Given the description of an element on the screen output the (x, y) to click on. 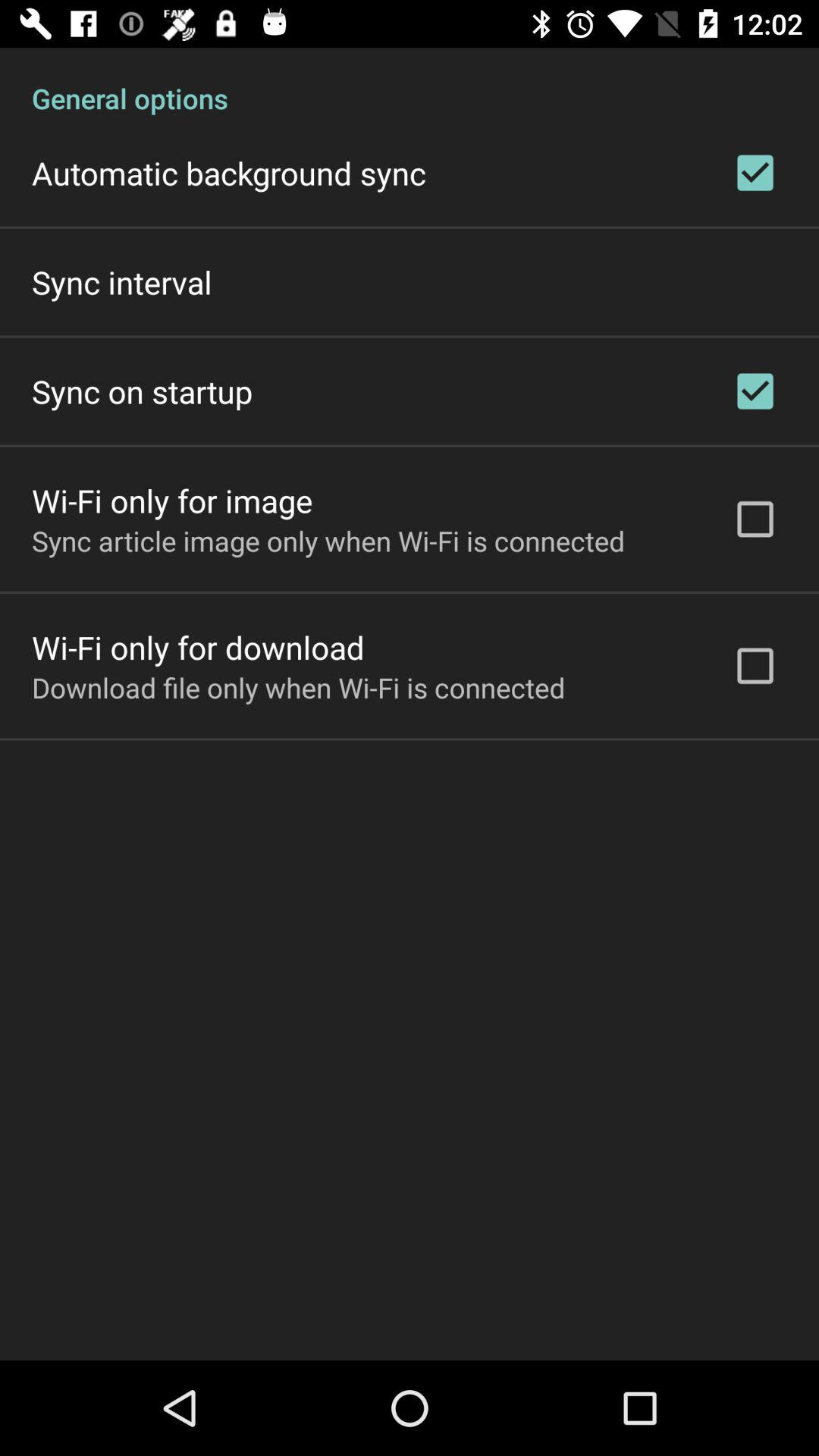
scroll until the sync article image (328, 540)
